Given the description of an element on the screen output the (x, y) to click on. 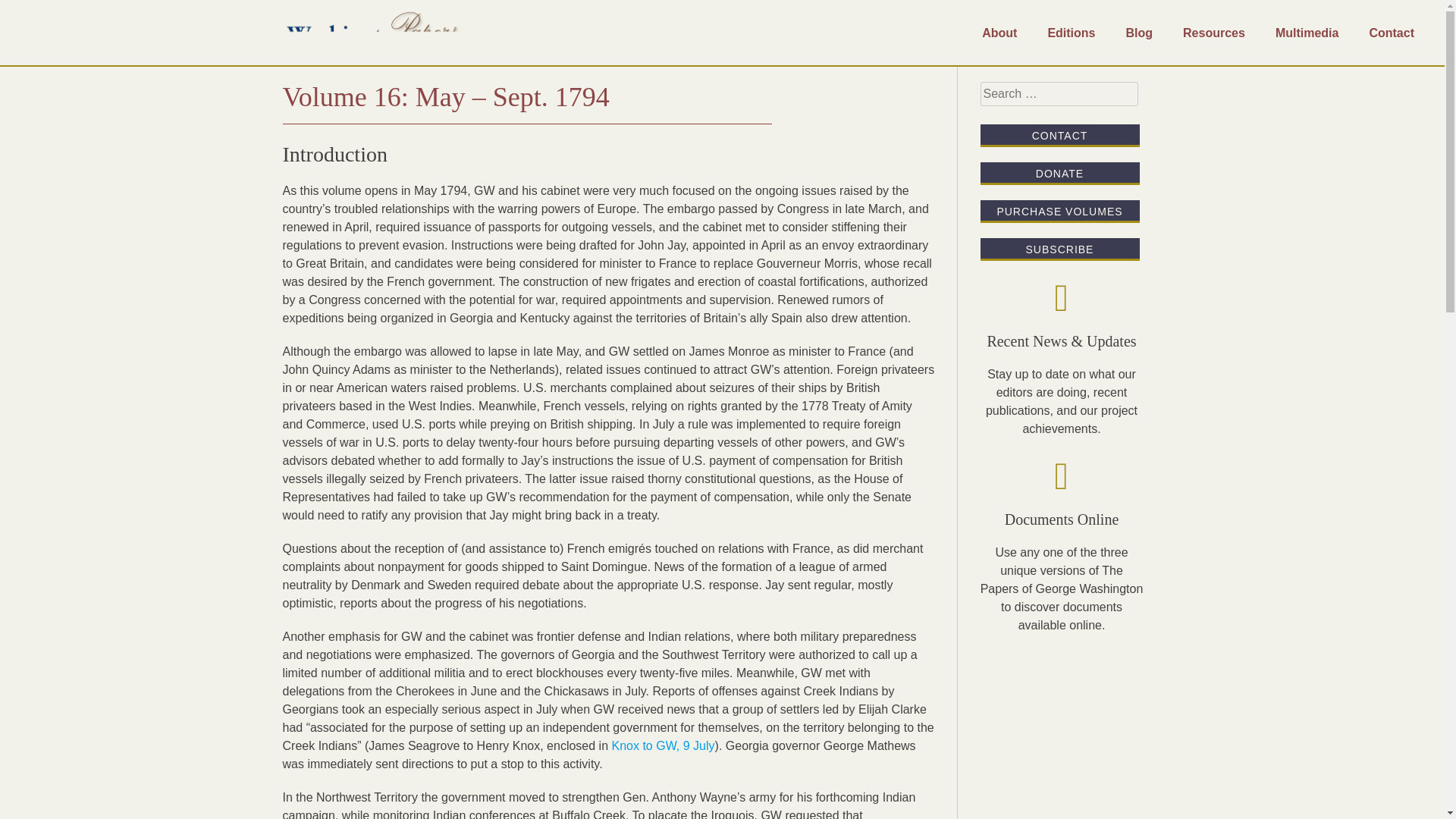
Editions (1070, 33)
Resources (1213, 33)
About (999, 33)
